Given the description of an element on the screen output the (x, y) to click on. 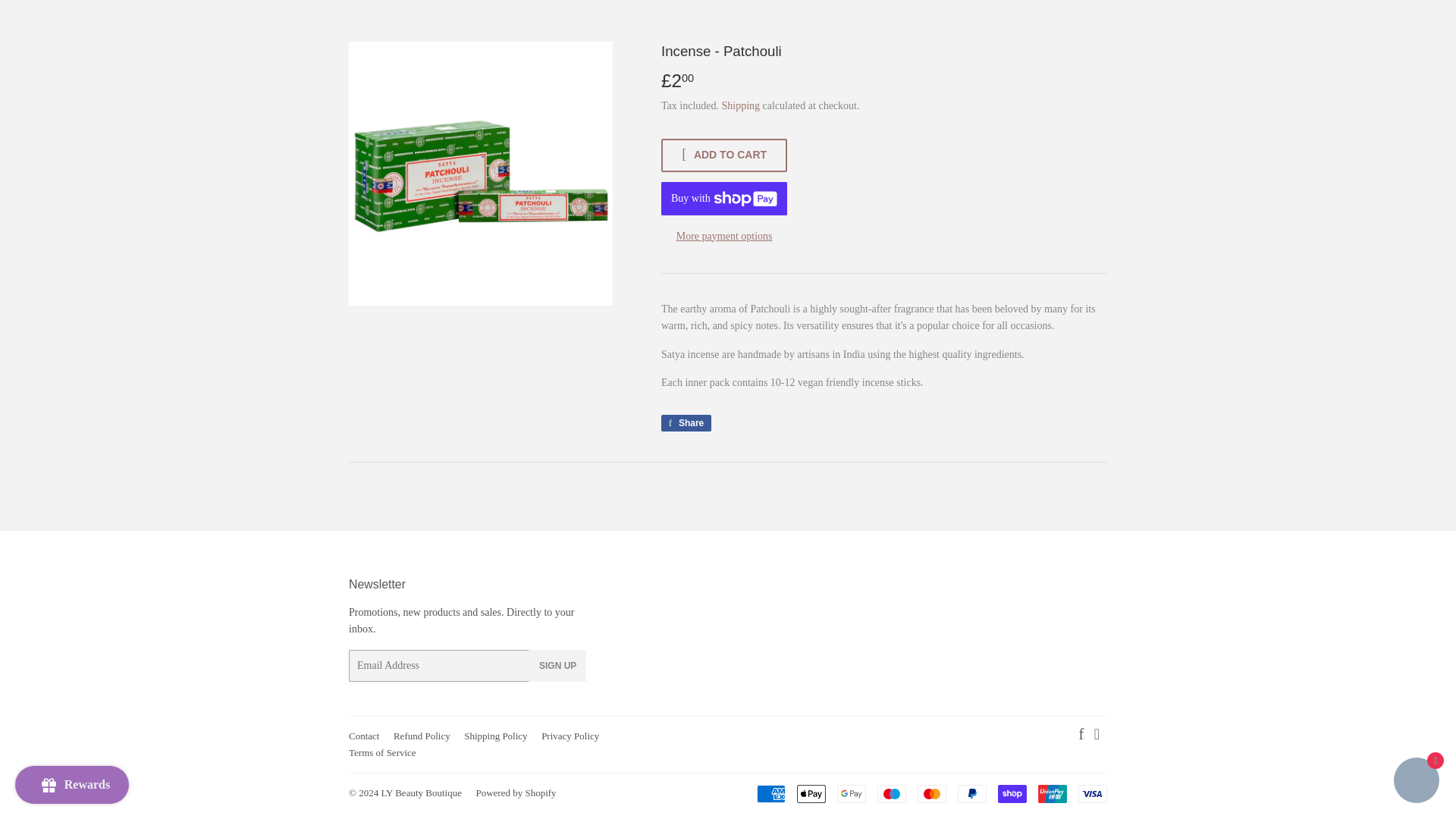
Mastercard (931, 793)
Apple Pay (810, 793)
PayPal (972, 793)
Share on Facebook (686, 422)
Shop Pay (1011, 793)
Union Pay (1052, 793)
Google Pay (851, 793)
Visa (1092, 793)
American Express (771, 793)
Shopify online store chat (1416, 477)
Maestro (891, 793)
